Given the description of an element on the screen output the (x, y) to click on. 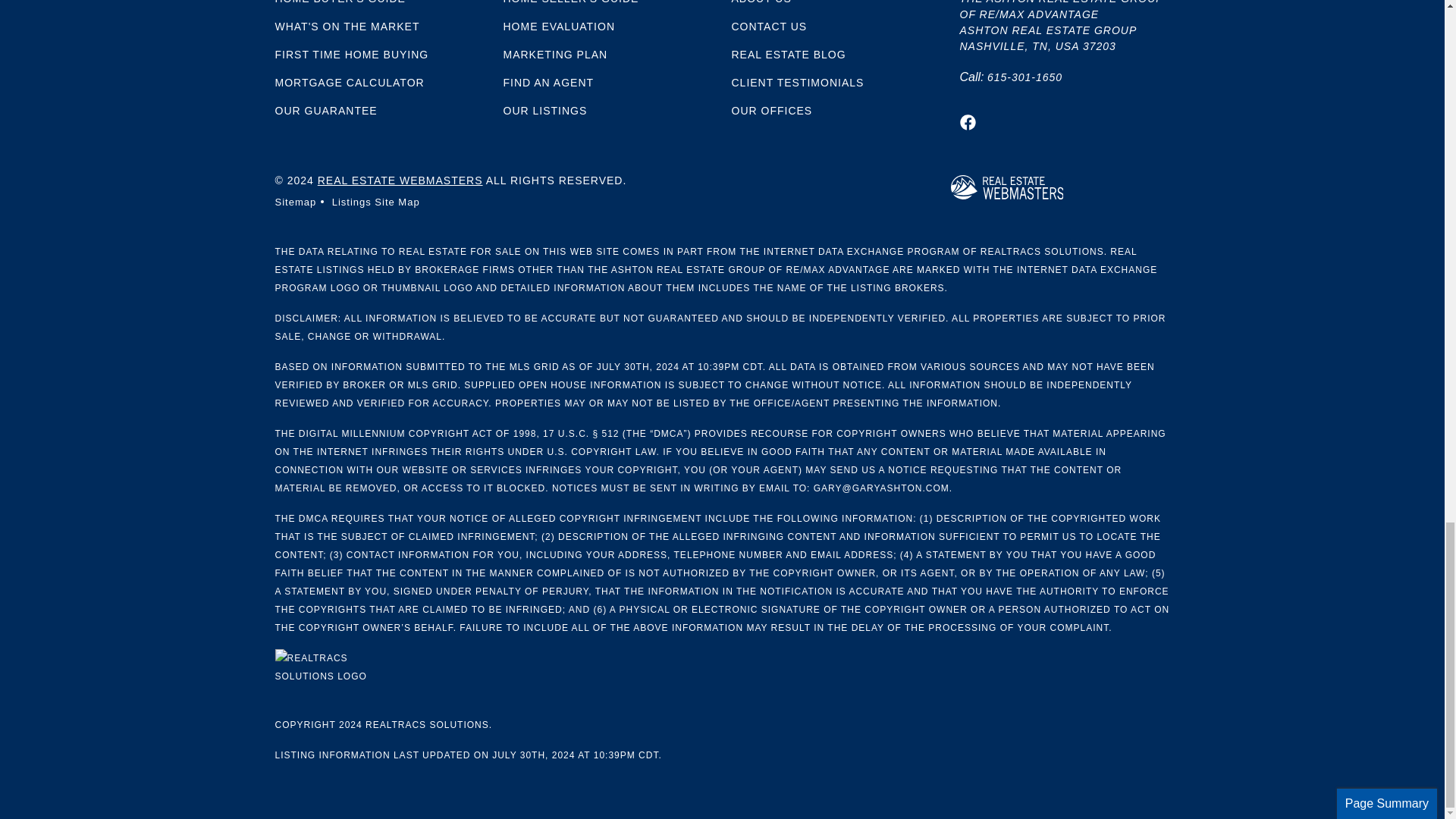
FACEBOOK (967, 122)
